Given the description of an element on the screen output the (x, y) to click on. 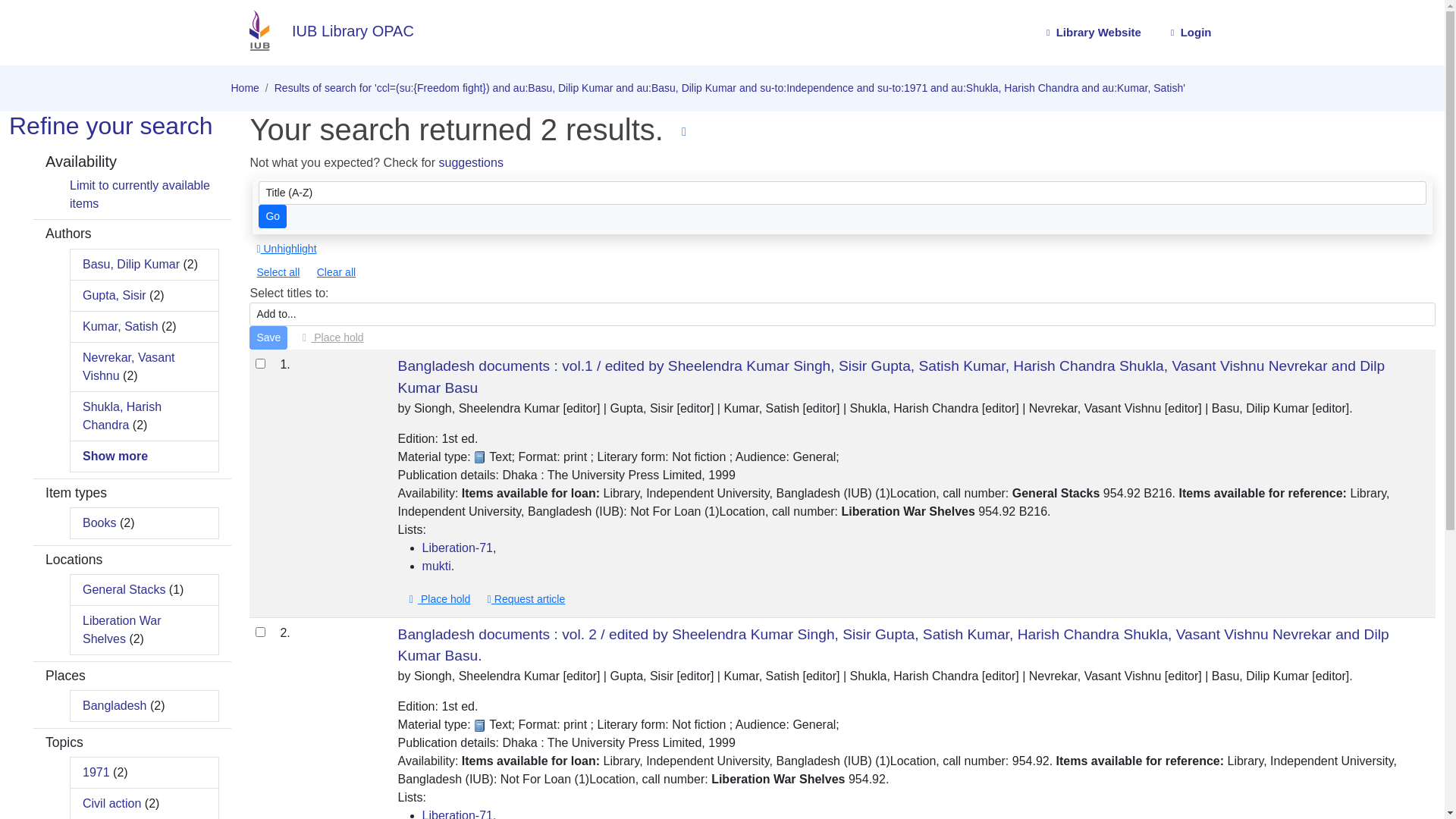
Place hold Element type: text (437, 599)
Liberation War Shelves Element type: text (121, 629)
Refine your search Element type: text (111, 125)
  Login Element type: text (1189, 32)
Clear all Element type: text (336, 272)
Bangladesh documents : Element type: hover (302, 363)
Request article Element type: text (525, 599)
Save Element type: text (268, 337)
Show more Element type: text (114, 454)
Shukla, Harish Chandra Element type: text (121, 415)
  Library Website Element type: text (1091, 32)
suggestions Element type: text (471, 162)
Bangladesh documents : Element type: hover (302, 632)
Home Element type: text (244, 87)
Unhighlight Element type: text (286, 248)
Bangladesh Element type: text (114, 705)
Place hold Element type: text (330, 337)
Select all Element type: text (277, 272)
Basu, Dilip Kumar Element type: text (130, 263)
Civil action Element type: text (111, 803)
Liberation-71 Element type: text (457, 547)
mukti Element type: text (436, 565)
Subscribe to this search Element type: text (683, 131)
1971 Element type: text (95, 771)
Books Element type: text (99, 522)
Subscribe to this search Element type: hover (683, 131)
Gupta, Sisir Element type: text (114, 294)
General Stacks Element type: text (123, 589)
Kumar, Satish Element type: text (120, 326)
Nevrekar, Vasant Vishnu Element type: text (128, 365)
Limit to currently available items Element type: text (139, 194)
Go Element type: text (272, 216)
IUB Library OPAC Element type: text (321, 30)
